Given the description of an element on the screen output the (x, y) to click on. 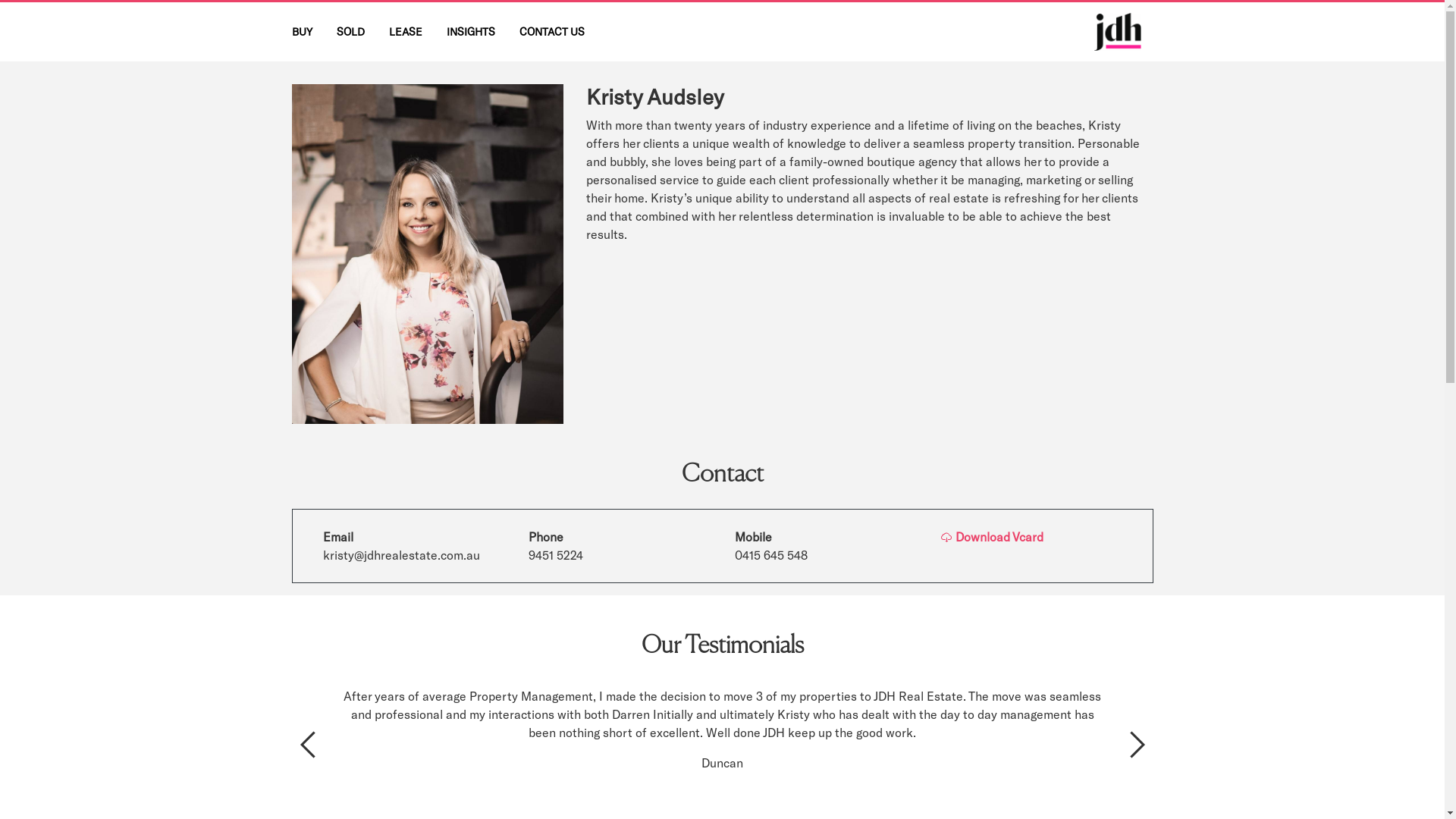
BUY Element type: text (301, 31)
Download Vcard Element type: text (991, 536)
LEASE Element type: text (404, 31)
INSIGHTS Element type: text (469, 31)
CONTACT US Element type: text (550, 31)
SOLD Element type: text (350, 31)
